Given the description of an element on the screen output the (x, y) to click on. 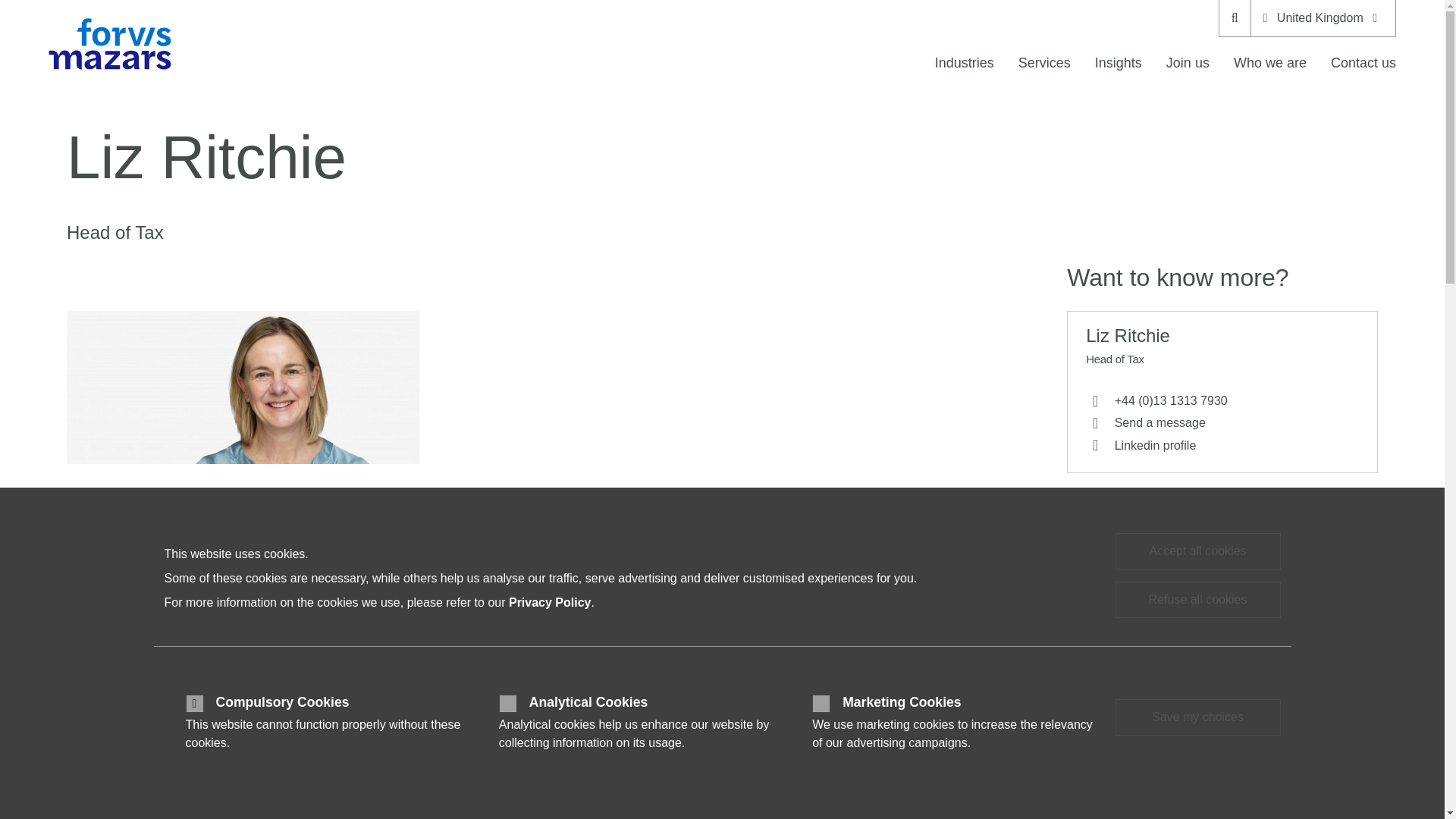
United Kingdom (1322, 18)
